Given the description of an element on the screen output the (x, y) to click on. 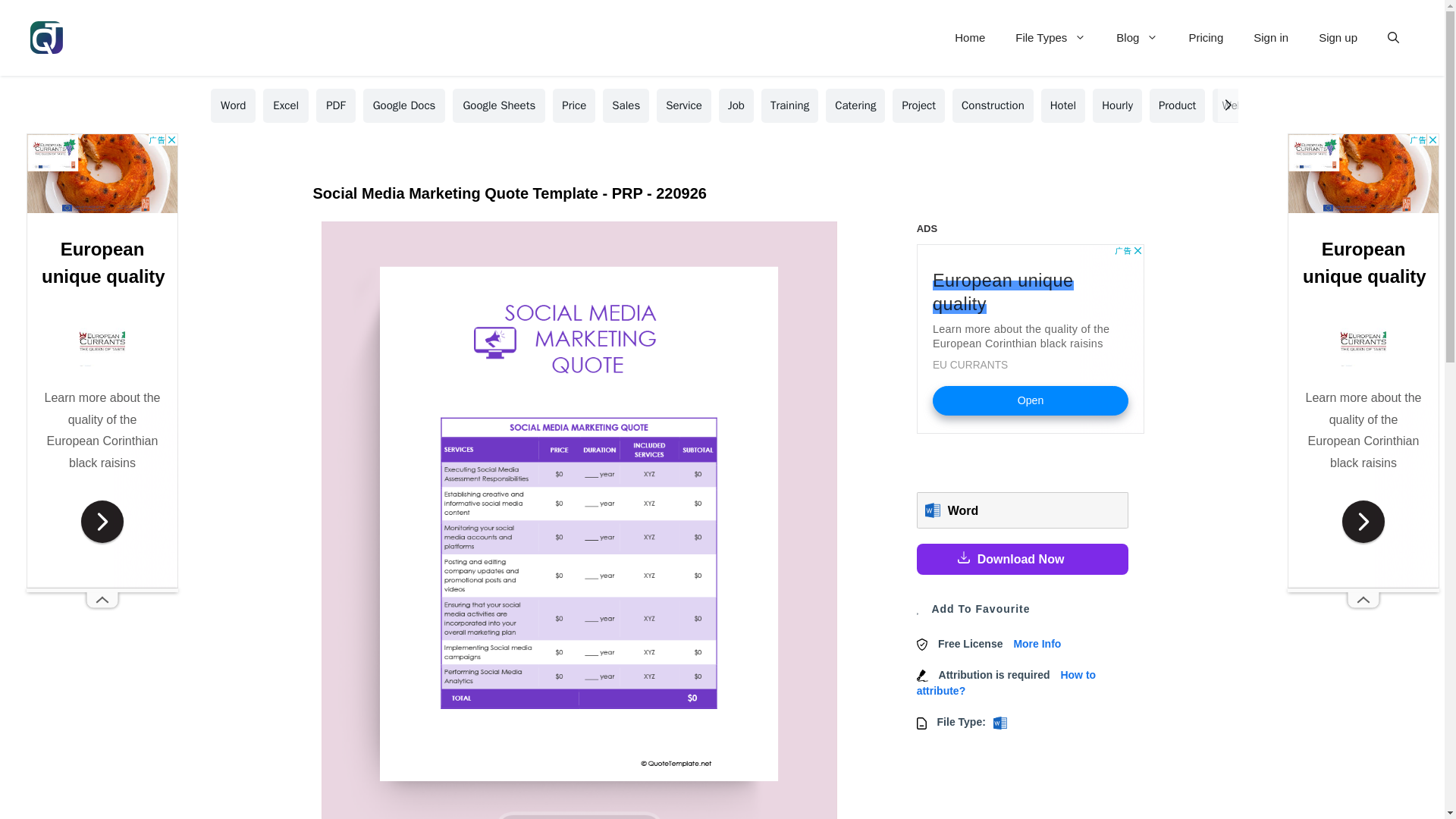
Sign up (1338, 37)
Pricing (1206, 37)
Advertisement (1030, 339)
Blog (1136, 37)
Sign in (1271, 37)
Home (969, 37)
File Types (1050, 37)
